Given the description of an element on the screen output the (x, y) to click on. 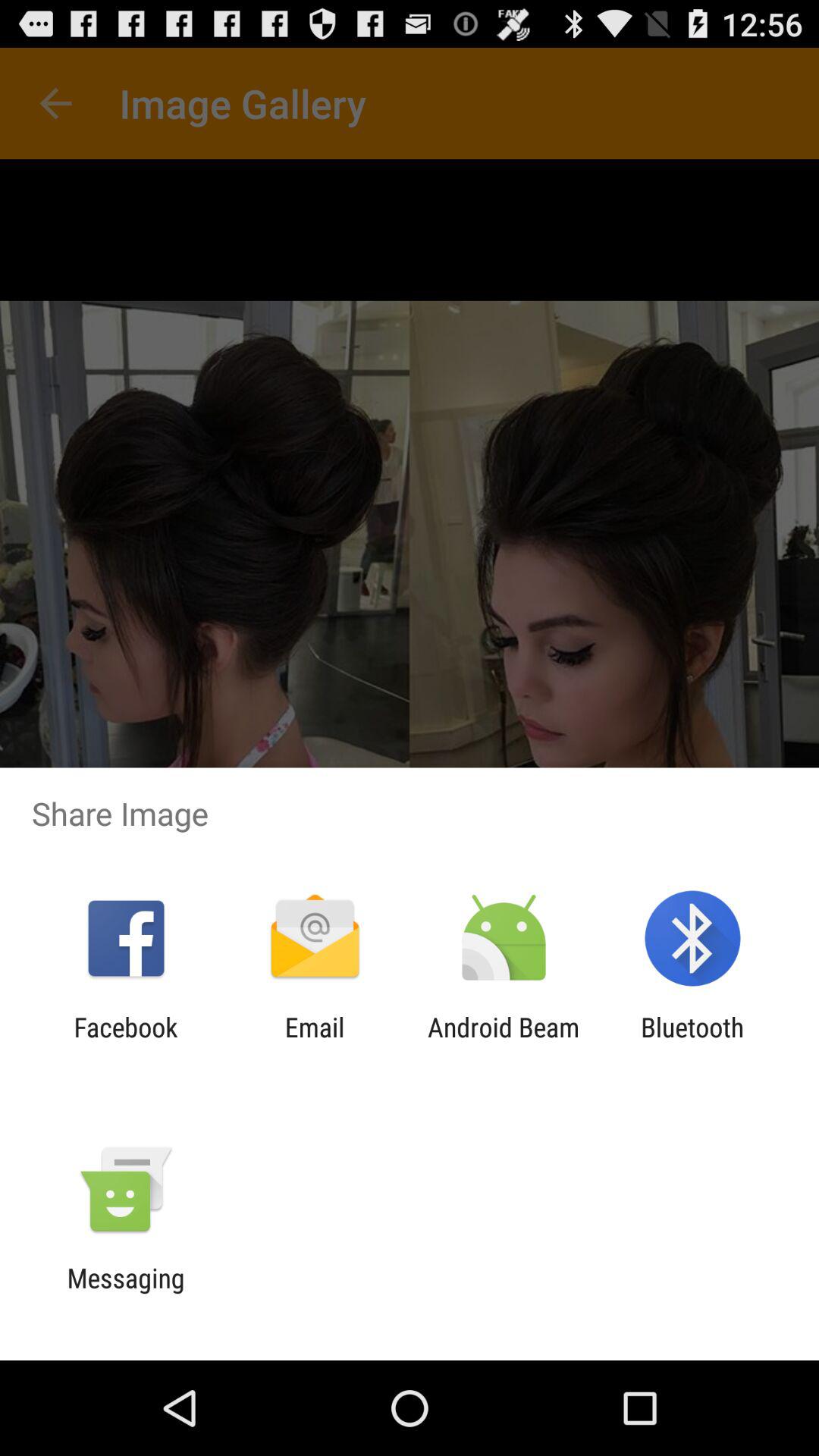
choose app next to the android beam app (691, 1042)
